Given the description of an element on the screen output the (x, y) to click on. 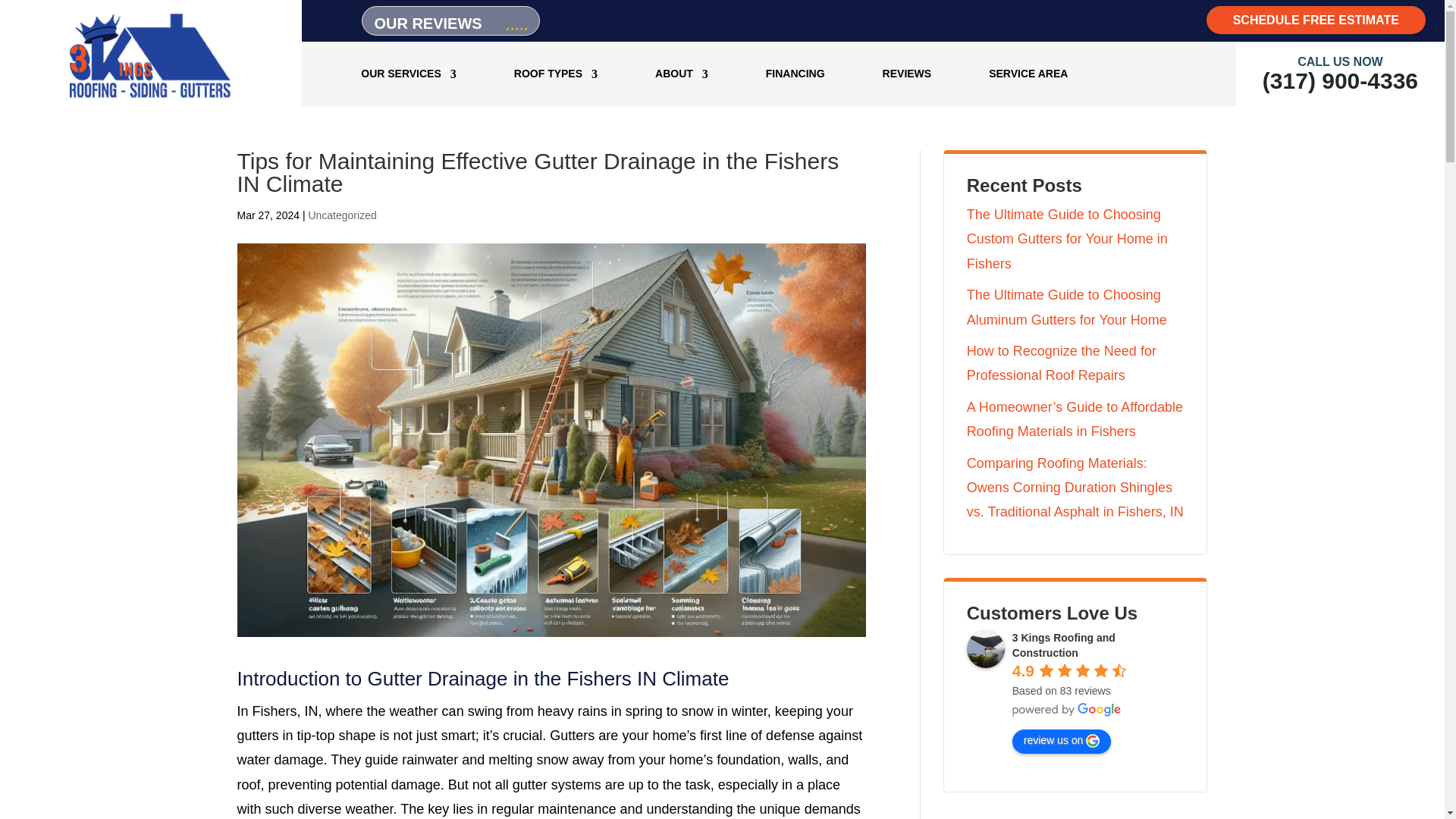
ROOF TYPES (554, 73)
SERVICE AREA (1027, 73)
FINANCING (795, 73)
3 Kings Roofing and Gutters (150, 96)
Free Estimate (1316, 19)
OUR SERVICES (409, 73)
Services (409, 73)
SCHEDULE FREE ESTIMATE (1316, 19)
